Given the description of an element on the screen output the (x, y) to click on. 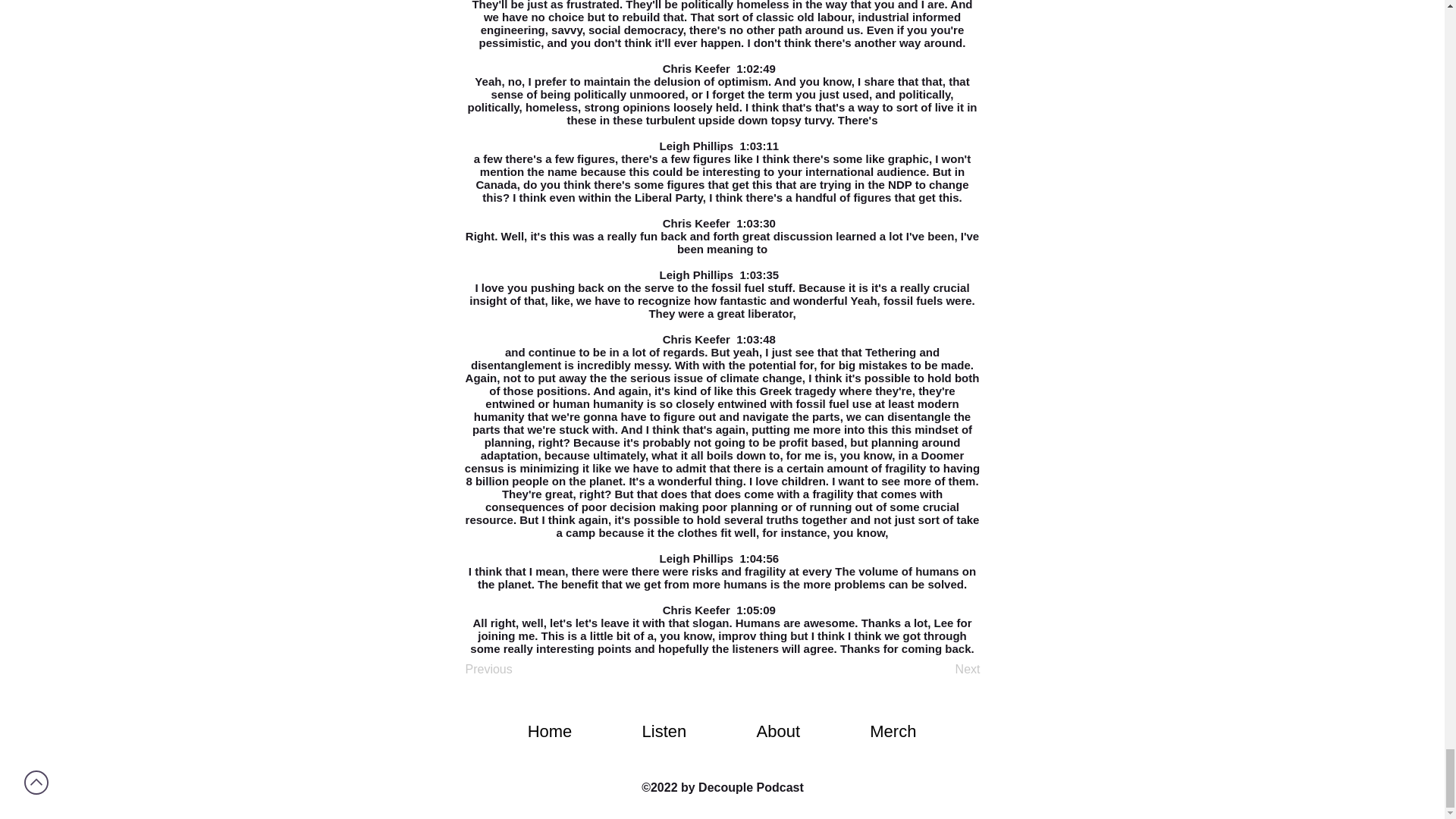
Home (550, 730)
Next (941, 669)
Previous (515, 669)
Listen (663, 730)
About (777, 730)
Merch (892, 730)
